Given the description of an element on the screen output the (x, y) to click on. 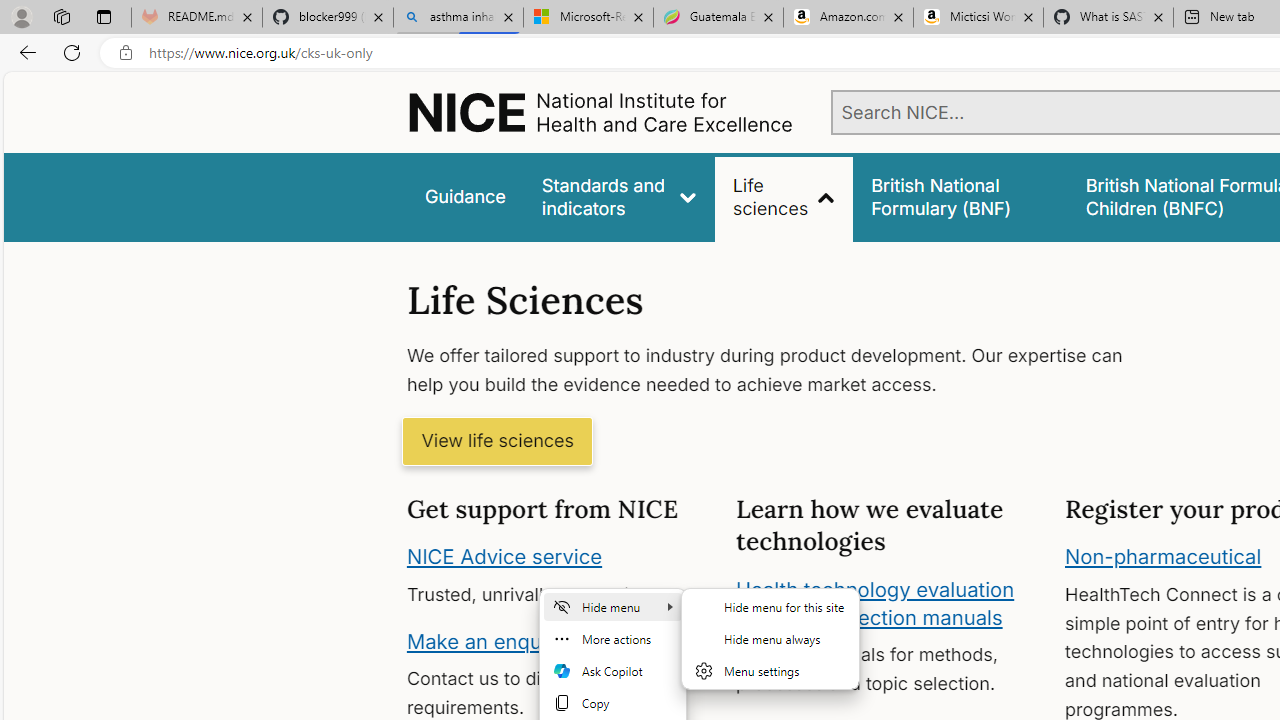
asthma inhaler - Search (458, 17)
Ask Copilot (613, 670)
NICE Advice service (503, 557)
More actions (613, 638)
Make an enquiry (486, 640)
